Given the description of an element on the screen output the (x, y) to click on. 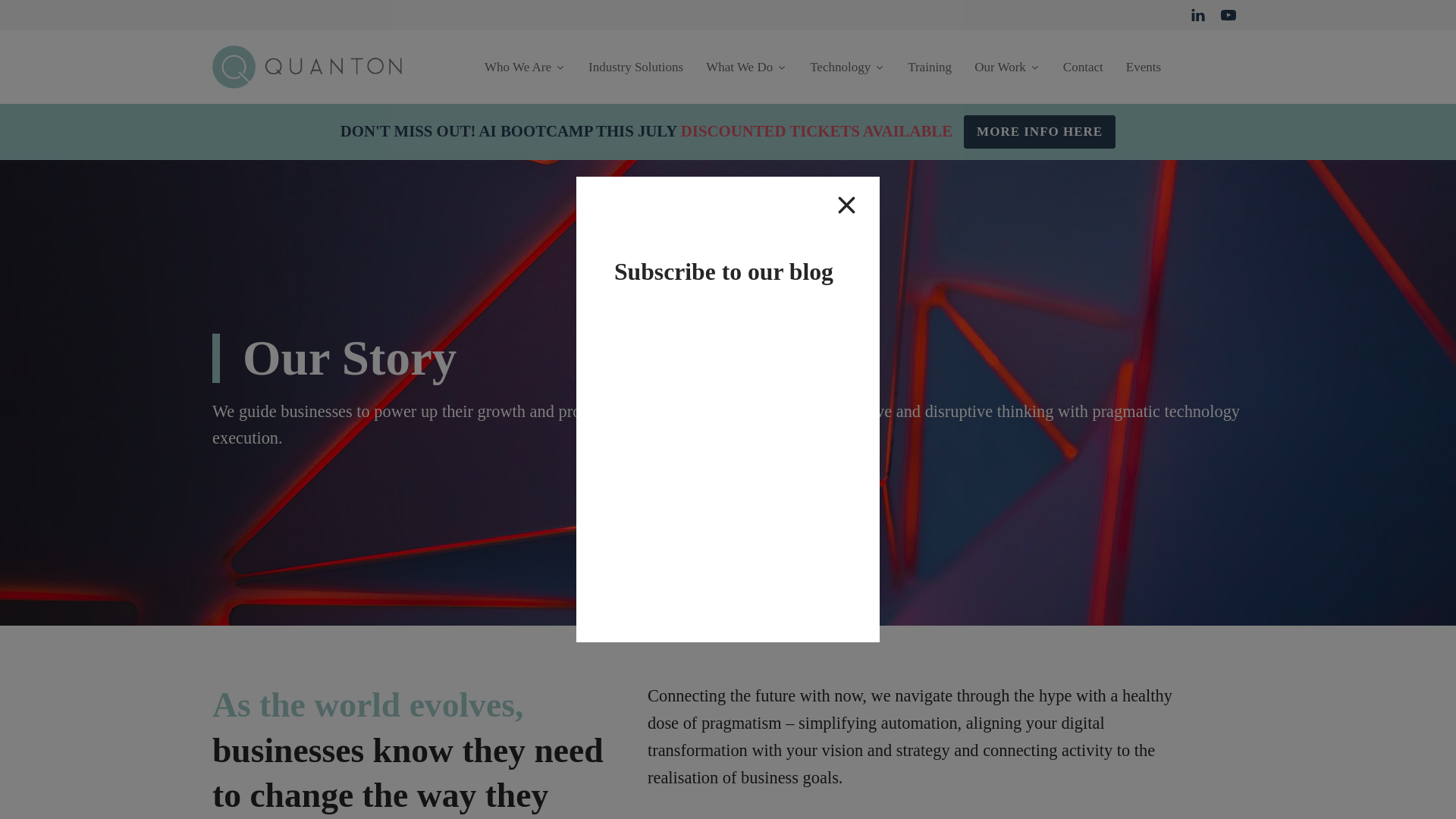
Technology (846, 66)
Training (929, 66)
Events (1143, 66)
Industry Solutions (635, 66)
Who We Are (524, 66)
Our Work (1006, 66)
What We Do (745, 66)
Contact (1083, 66)
